Given the description of an element on the screen output the (x, y) to click on. 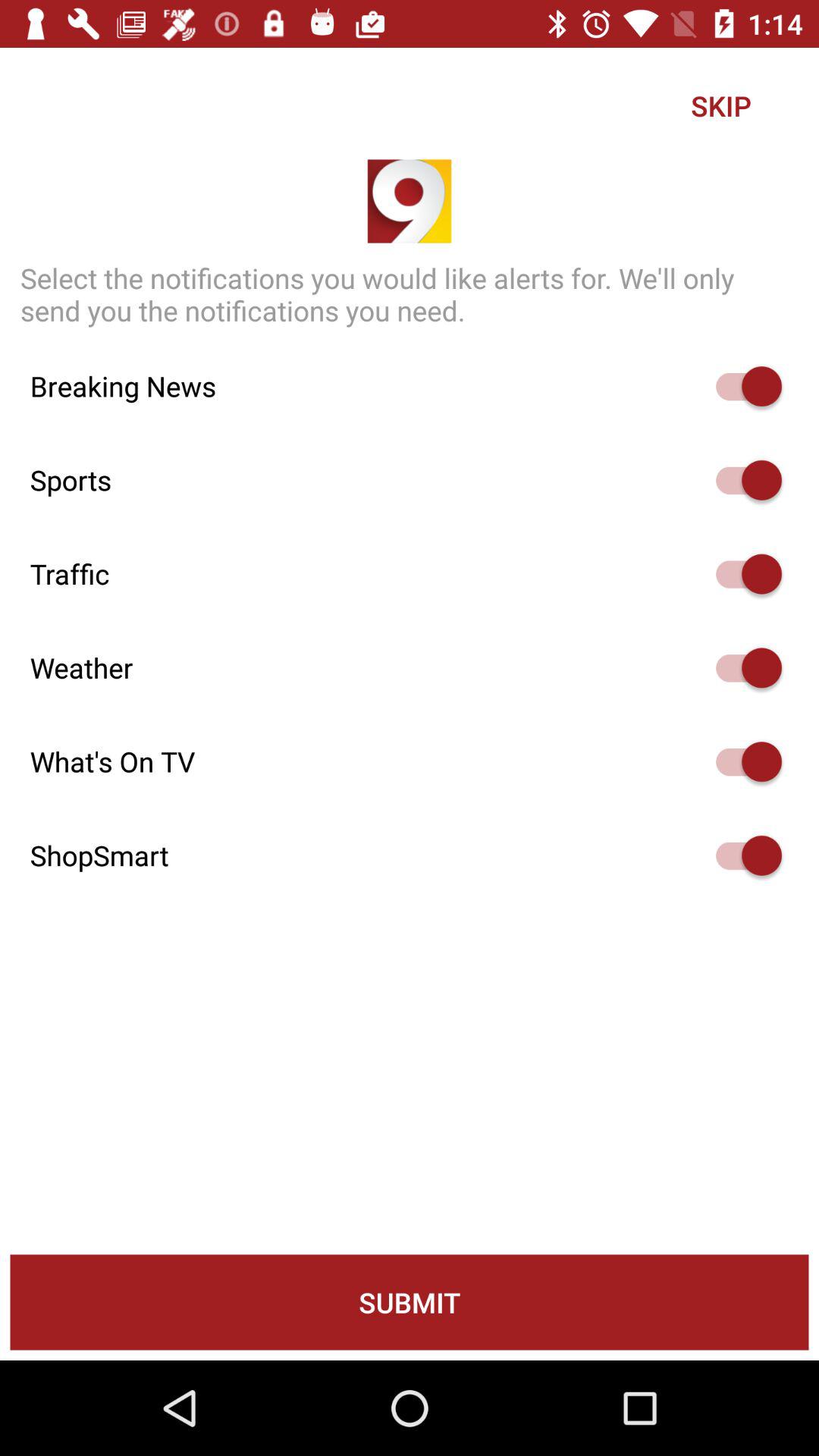
toggle shopsmart (741, 855)
